Given the description of an element on the screen output the (x, y) to click on. 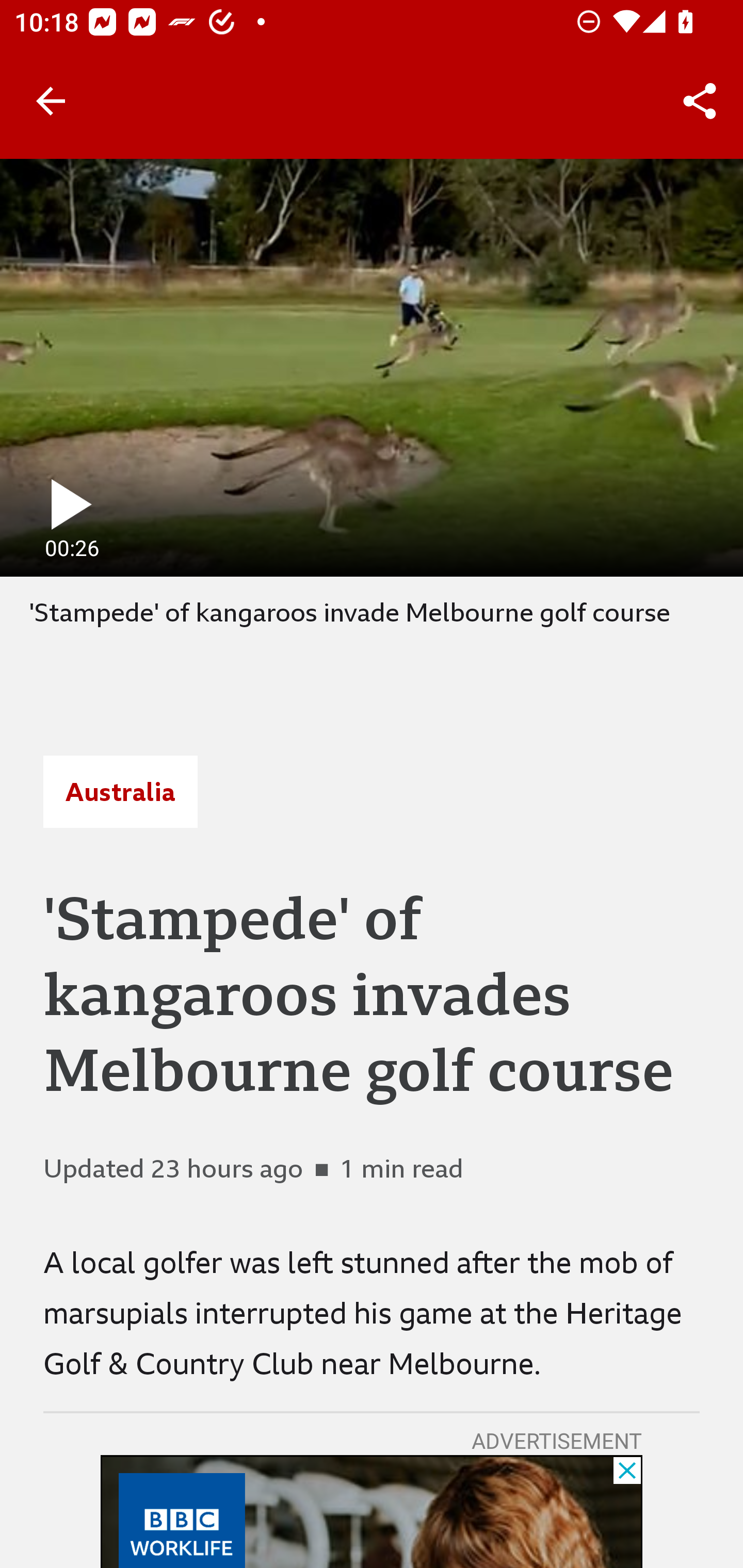
Back (50, 101)
Share (699, 101)
play fullscreen 00:26 0 minutes, 26 seconds (371, 367)
Australia (120, 791)
